Given the description of an element on the screen output the (x, y) to click on. 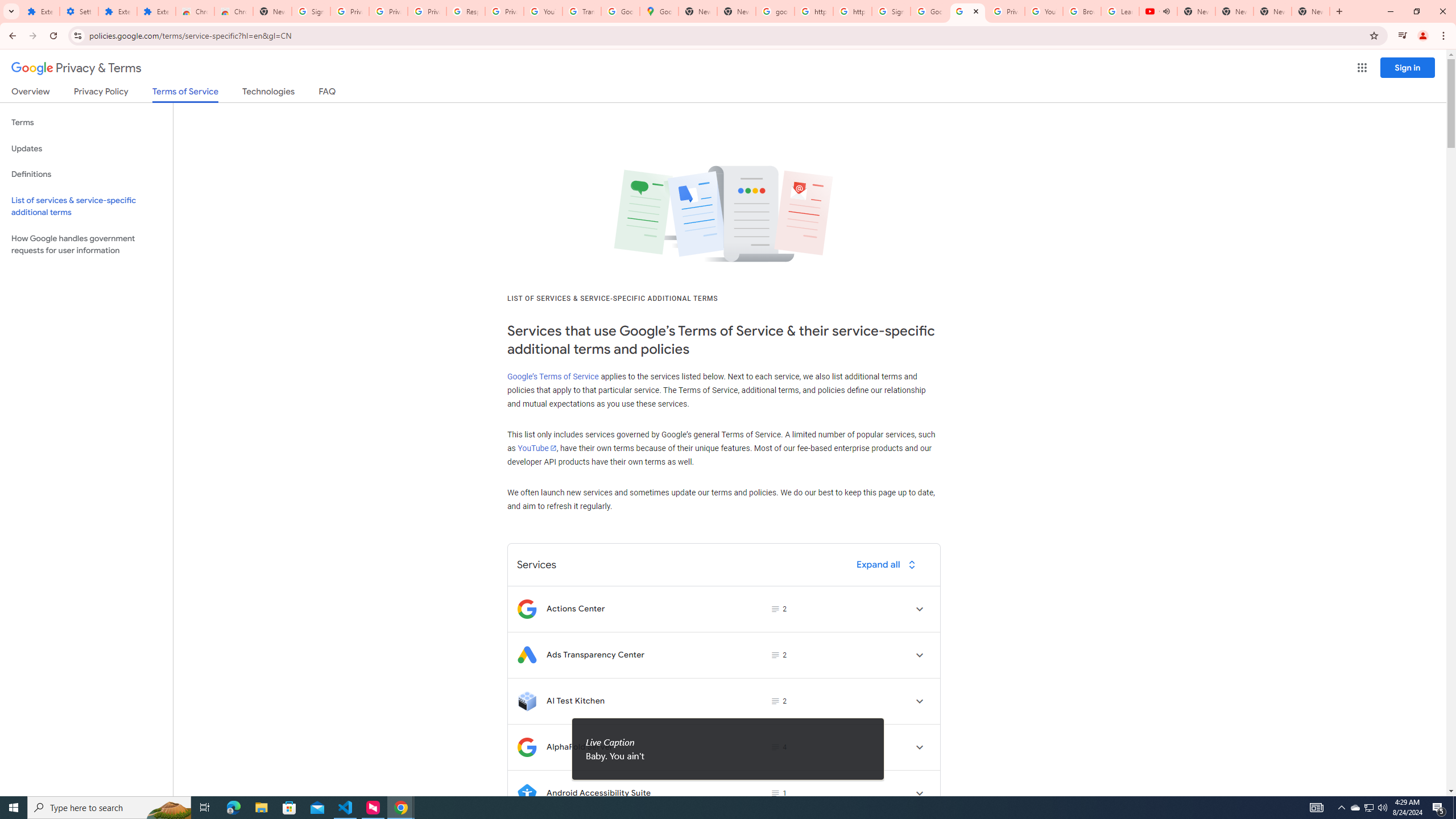
Logo for Android Accessibility Suite (526, 792)
New Tab (1311, 11)
YouTube (536, 447)
https://scholar.google.com/ (852, 11)
Logo for AlphaFold Server (526, 746)
Logo for Actions Center (526, 608)
